Given the description of an element on the screen output the (x, y) to click on. 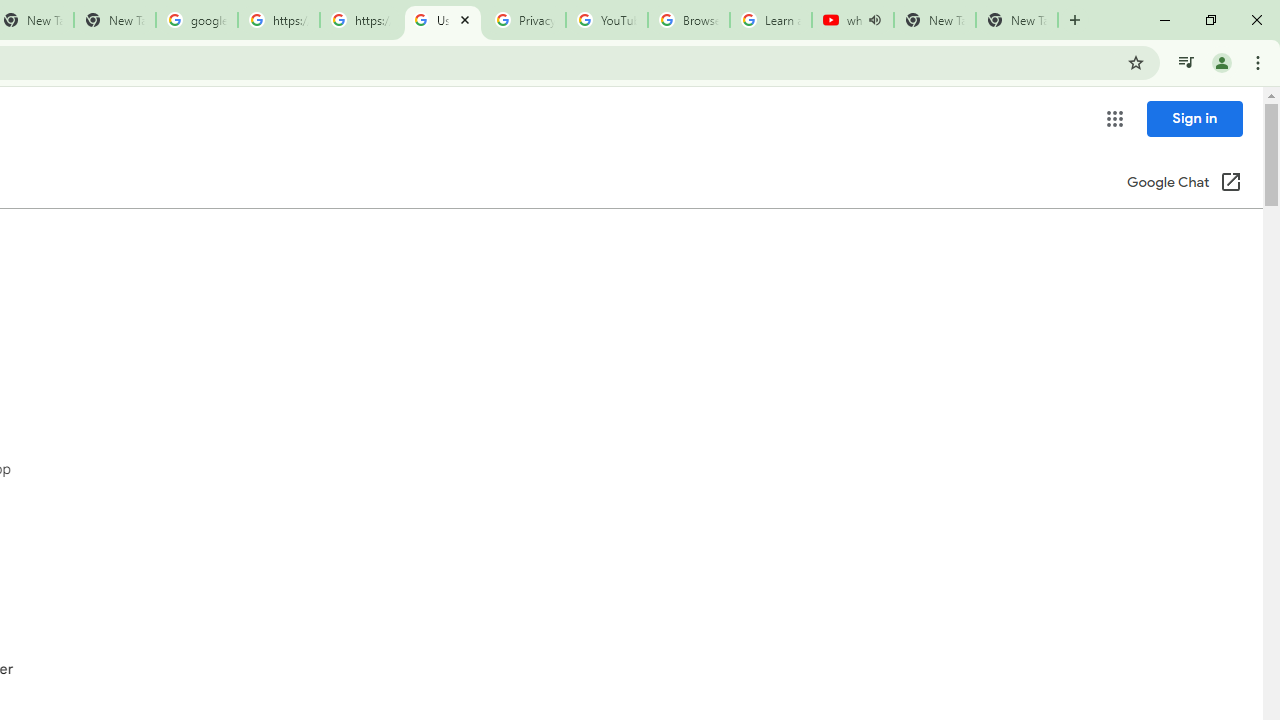
https://scholar.google.com/ (278, 20)
Browse Chrome as a guest - Computer - Google Chrome Help (688, 20)
